Given the description of an element on the screen output the (x, y) to click on. 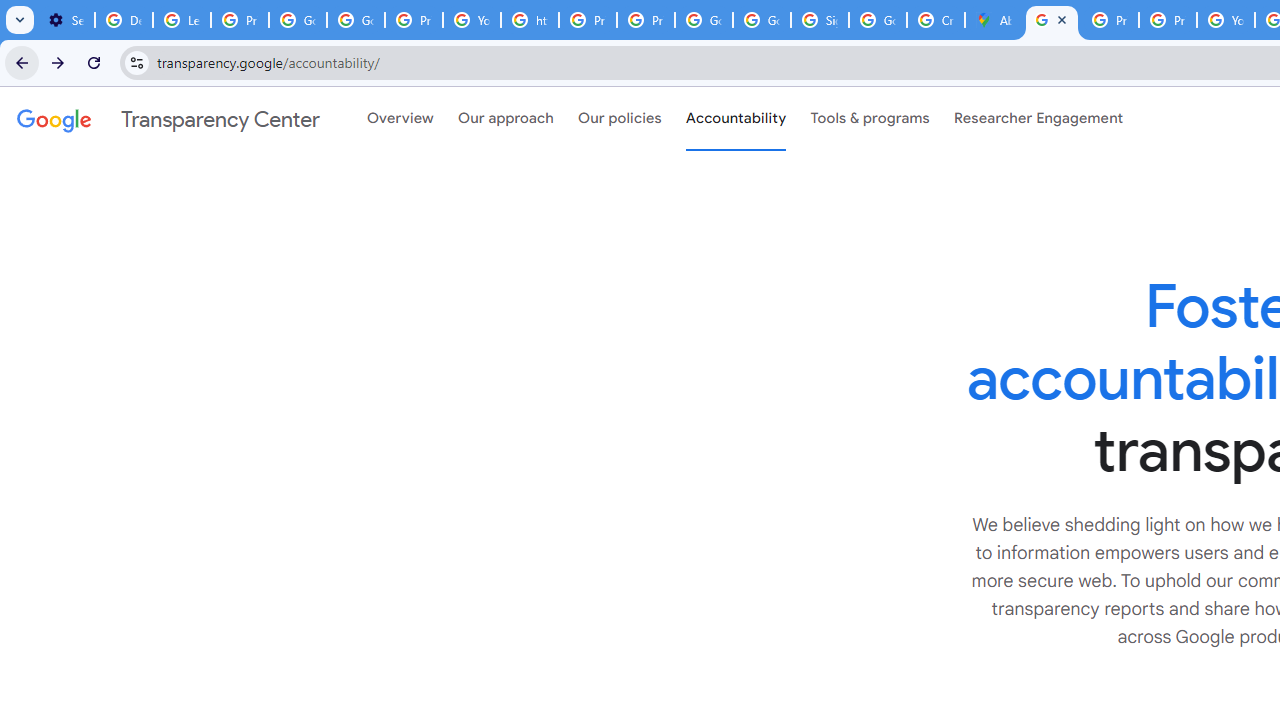
Sign in - Google Accounts (819, 20)
Privacy Help Center - Policies Help (587, 20)
Our approach (506, 119)
Learn how to find your photos - Google Photos Help (181, 20)
Privacy Help Center - Policies Help (1167, 20)
Create your Google Account (936, 20)
Tools & programs (869, 119)
Accountability (735, 119)
Researcher Engagement (1038, 119)
